Given the description of an element on the screen output the (x, y) to click on. 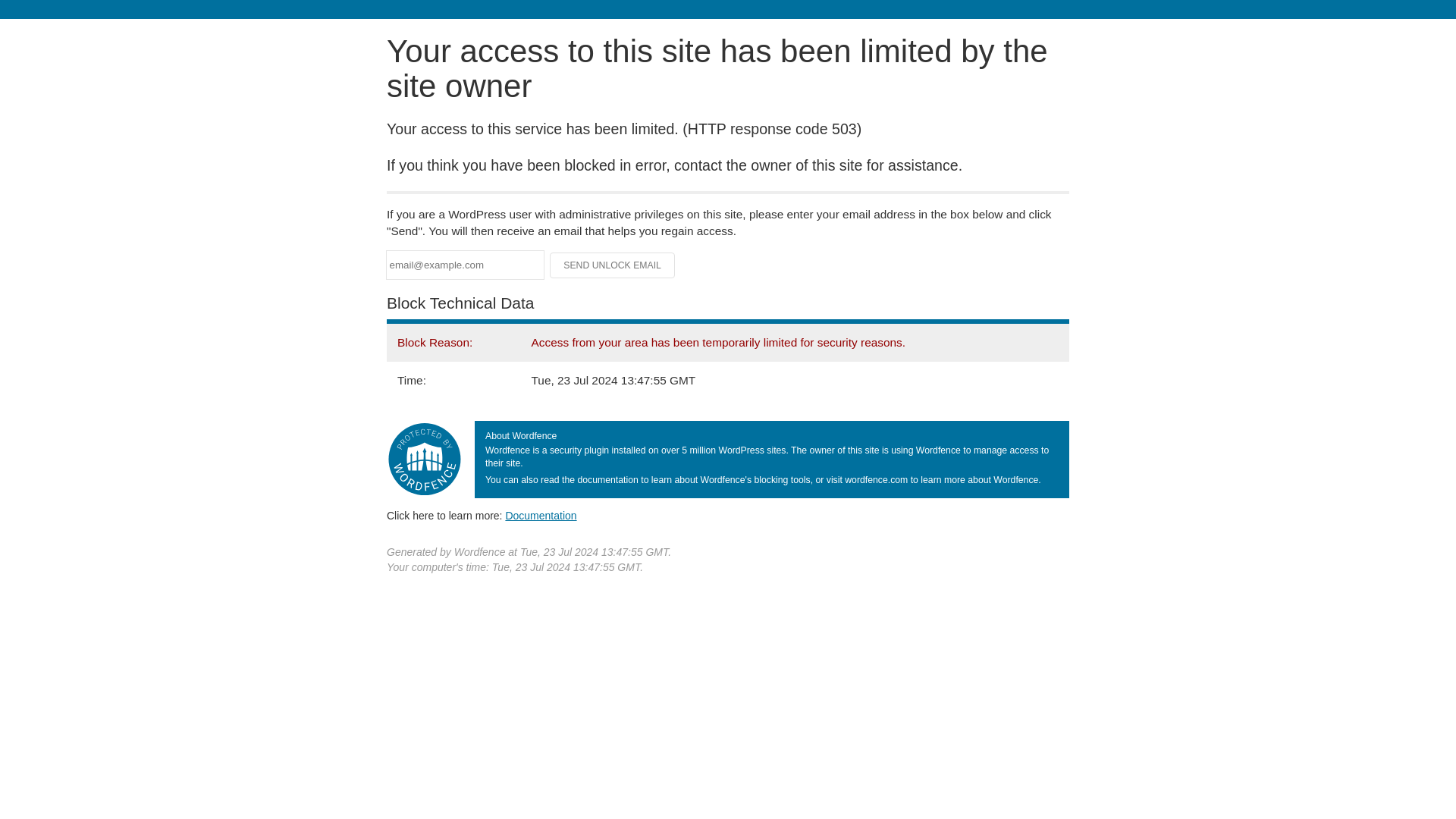
Send Unlock Email (612, 265)
Documentation (540, 515)
Send Unlock Email (612, 265)
